Given the description of an element on the screen output the (x, y) to click on. 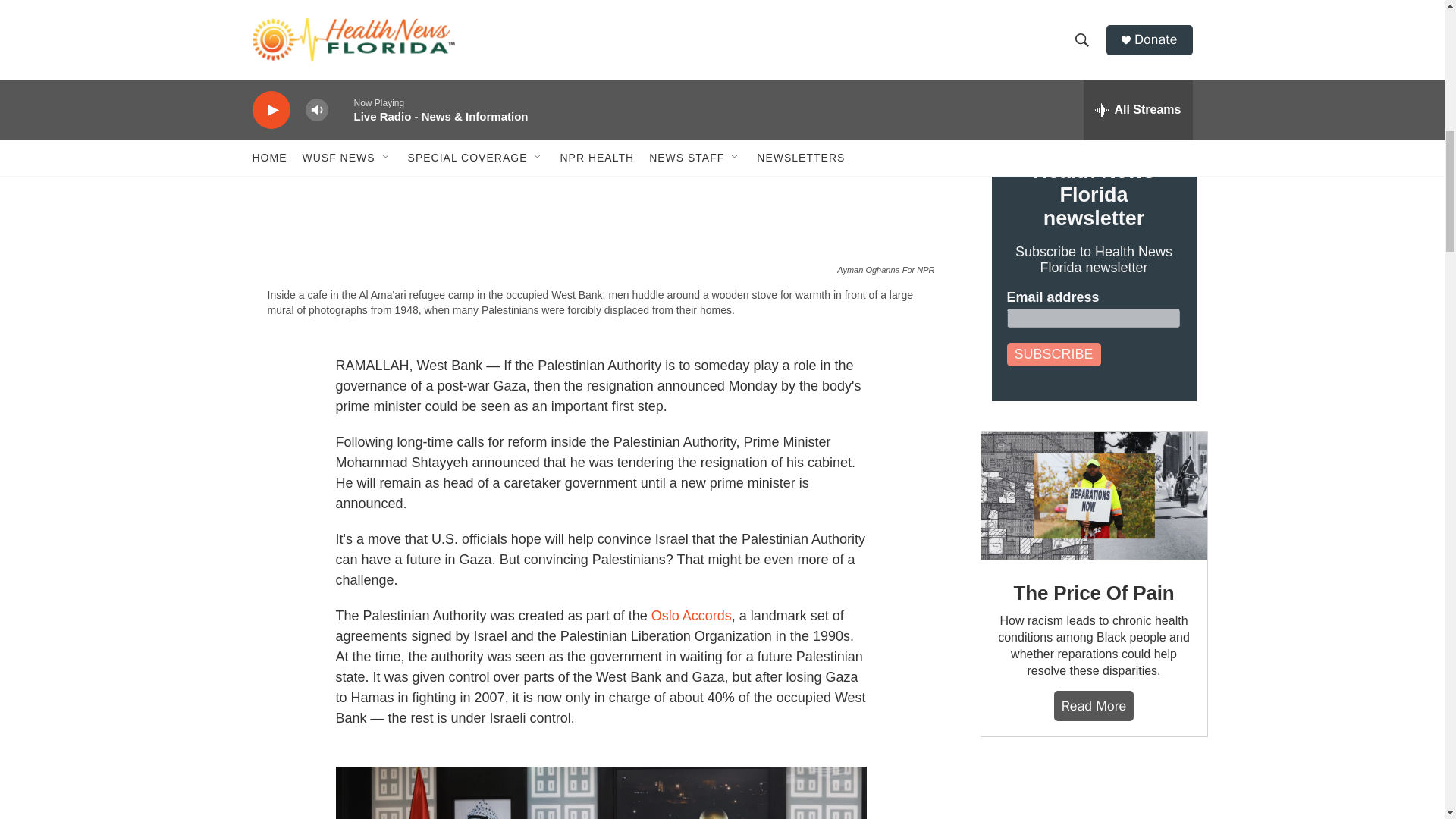
3rd party ad content (1093, 793)
